Given the description of an element on the screen output the (x, y) to click on. 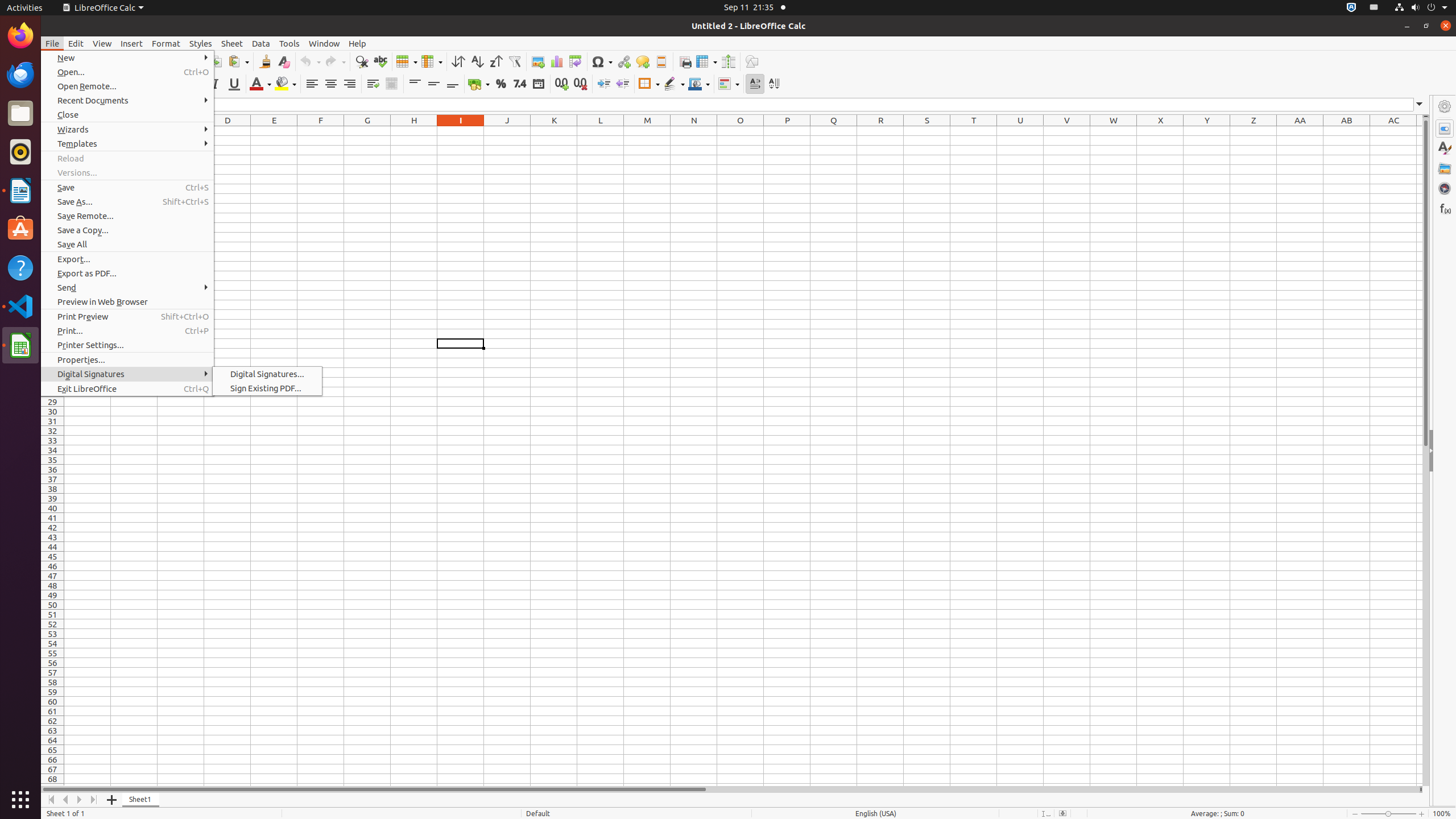
Sort Ascending Element type: push-button (476, 61)
Insert Element type: menu (131, 43)
Align Left Element type: push-button (311, 83)
Undo Element type: push-button (309, 61)
Vertical scroll bar Element type: scroll-bar (1425, 451)
